Given the description of an element on the screen output the (x, y) to click on. 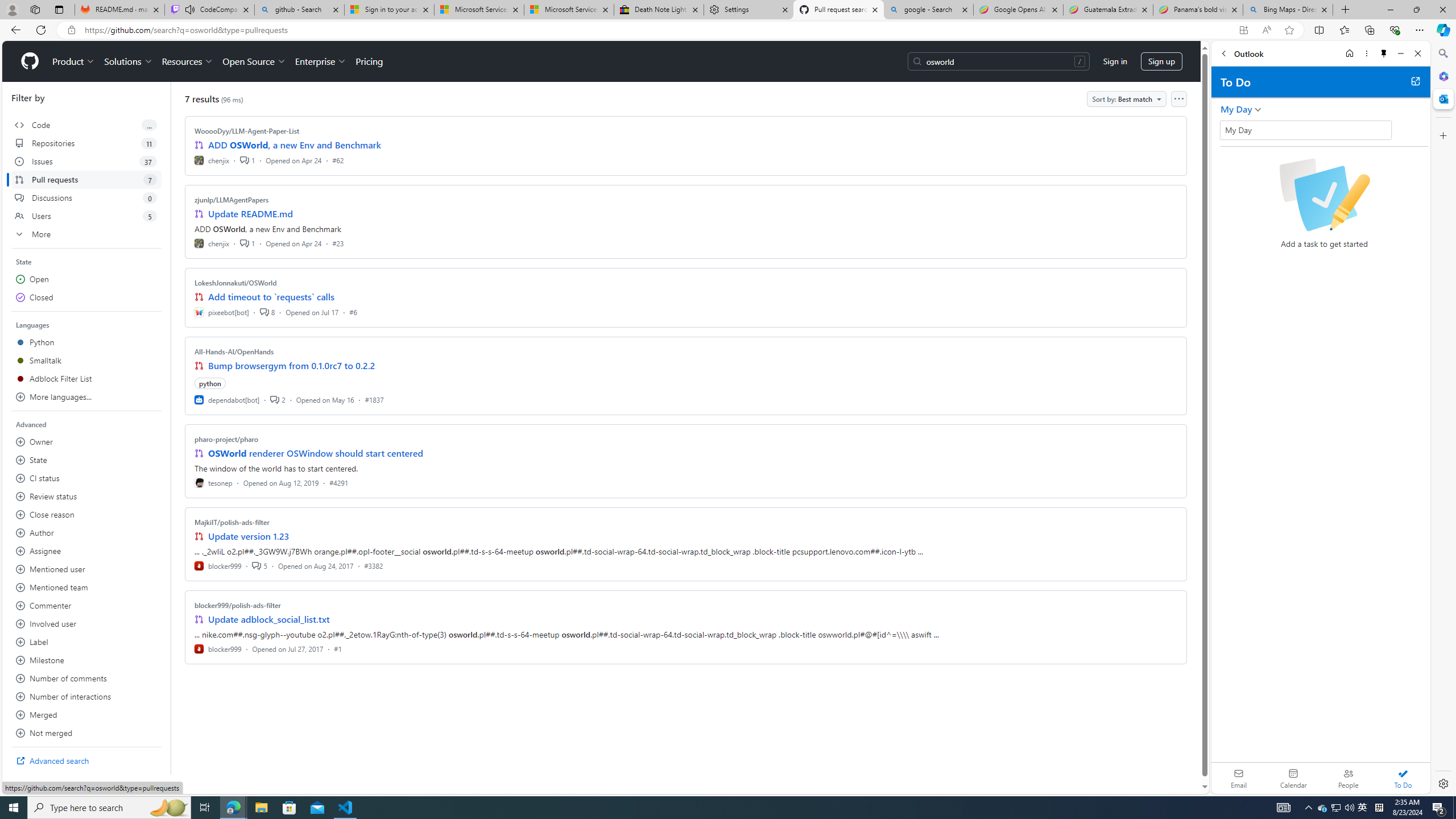
Mute tab (189, 8)
Personal Profile (12, 9)
blocker999/polish-ads-filter (238, 605)
Solutions (128, 60)
